Given the description of an element on the screen output the (x, y) to click on. 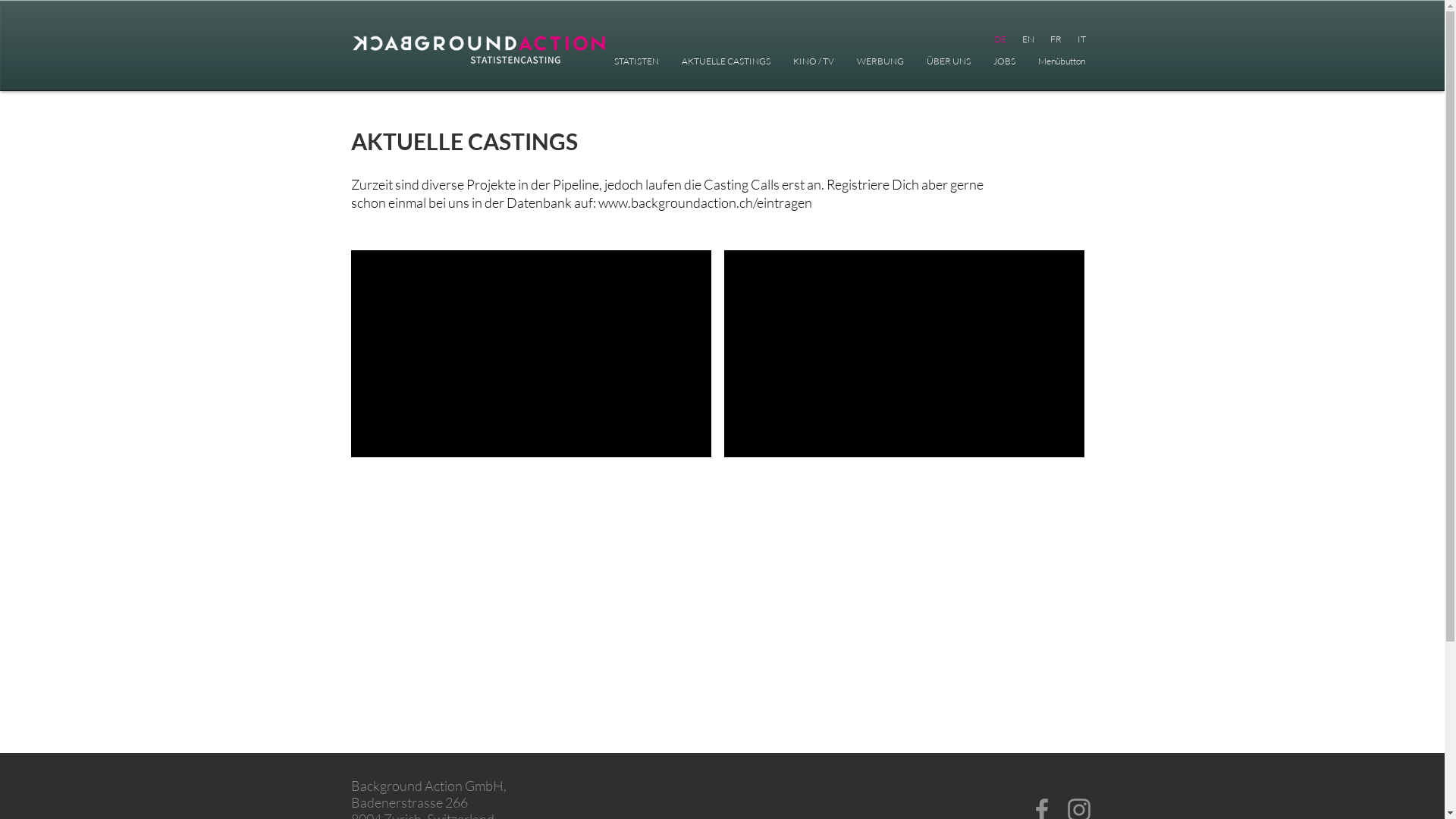
EN Element type: text (1027, 39)
STATISTEN Element type: text (635, 61)
IT Element type: text (1081, 39)
WERBUNG Element type: text (879, 61)
KINO / TV Element type: text (812, 61)
JOBS Element type: text (1003, 61)
DE Element type: text (999, 39)
FR Element type: text (1055, 39)
www.backgroundaction.ch/eintragen Element type: text (704, 202)
AKTUELLE CASTINGS Element type: text (725, 61)
